Given the description of an element on the screen output the (x, y) to click on. 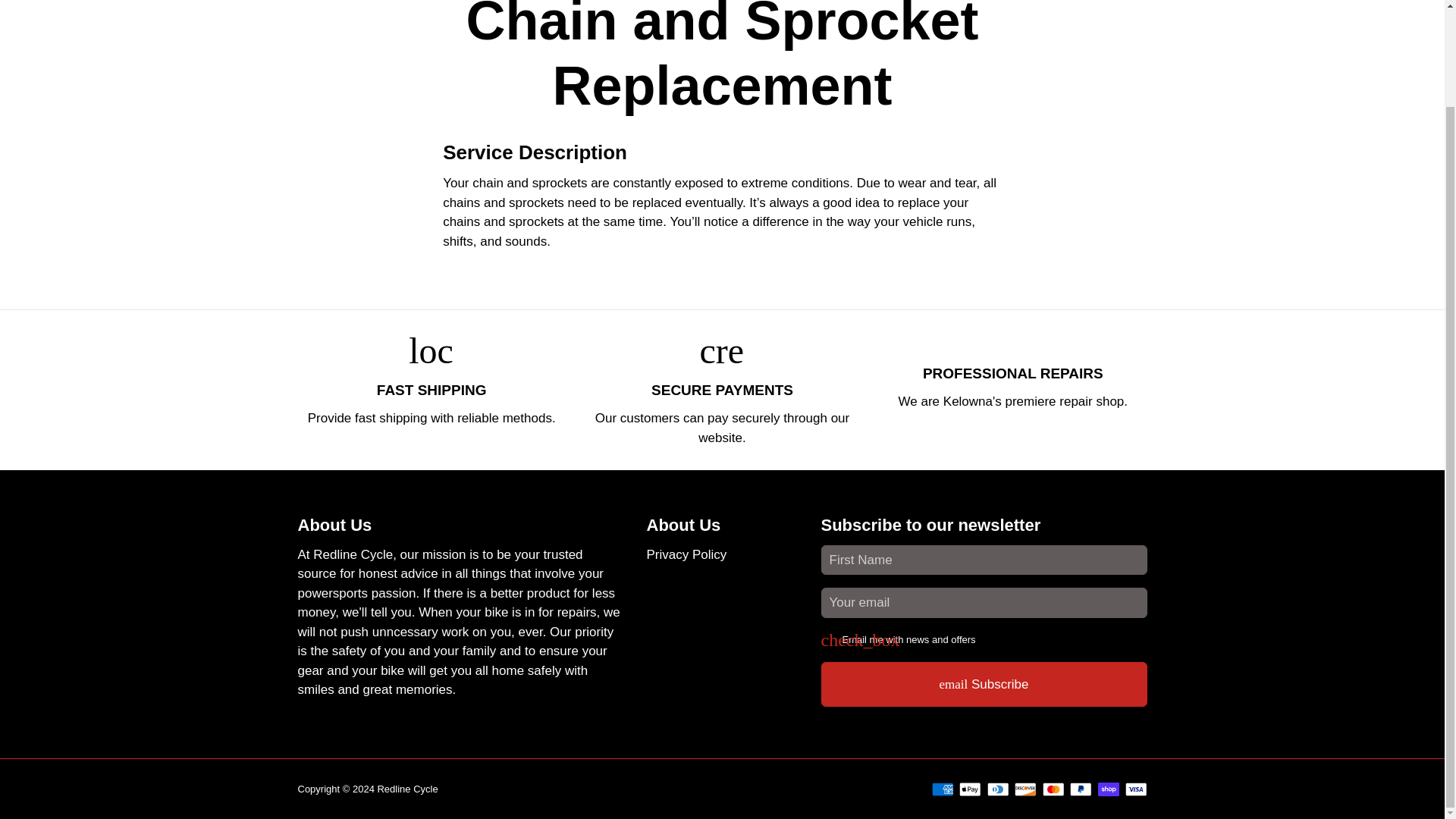
Mastercard (1052, 789)
Shop Pay (1108, 789)
Visa (1136, 789)
Privacy Policy (686, 555)
American Express (941, 789)
Redline Cycle (407, 788)
Apple Pay (970, 789)
Discover (1025, 789)
email Subscribe (984, 684)
PayPal (1081, 789)
